Given the description of an element on the screen output the (x, y) to click on. 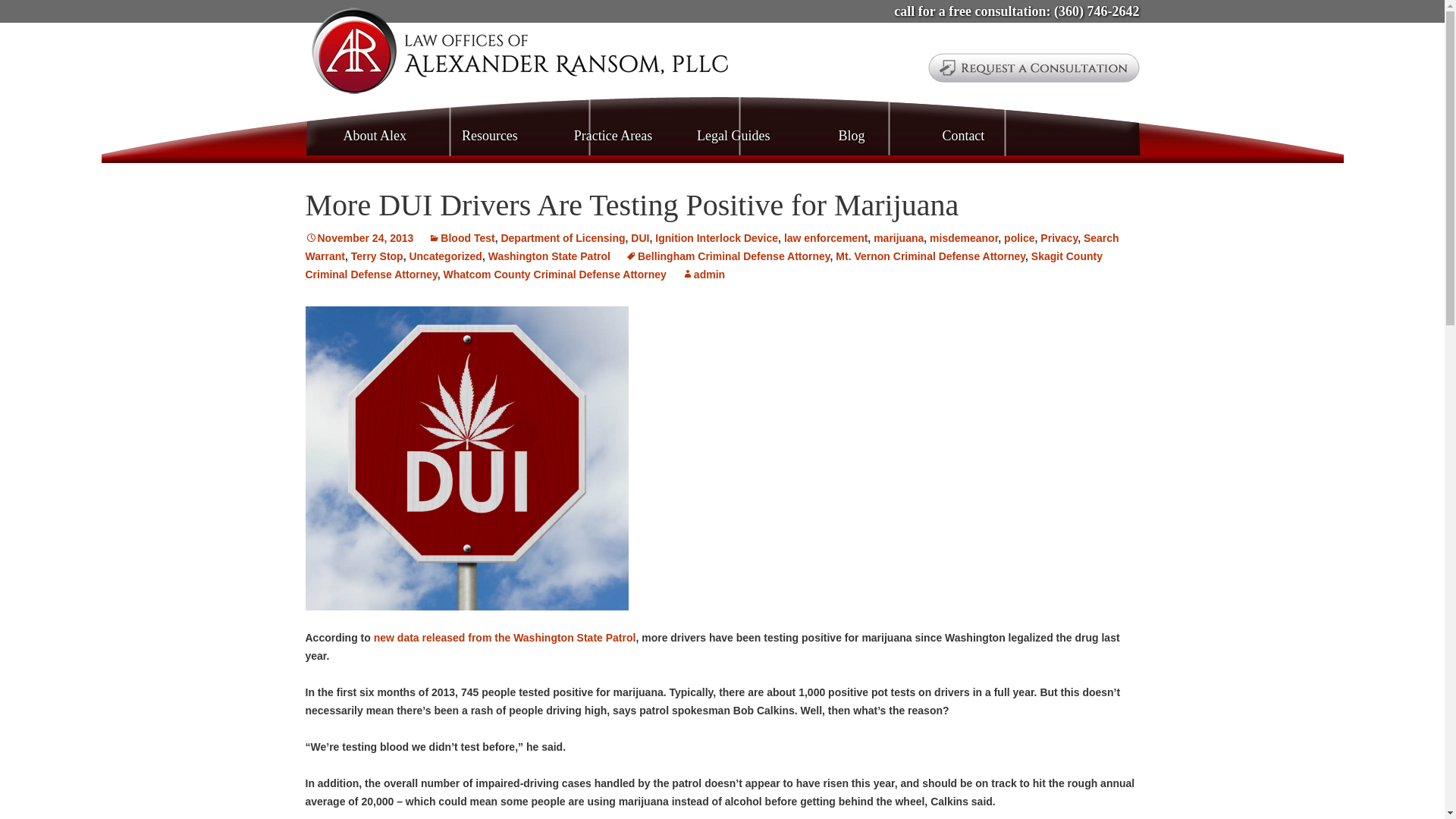
About Alex (374, 135)
Law offices of Alexander Ransom (518, 53)
Resources (518, 53)
Skip to content (489, 135)
Request a Consultation (612, 135)
View all posts by admin (1034, 67)
Arson (703, 274)
